Given the description of an element on the screen output the (x, y) to click on. 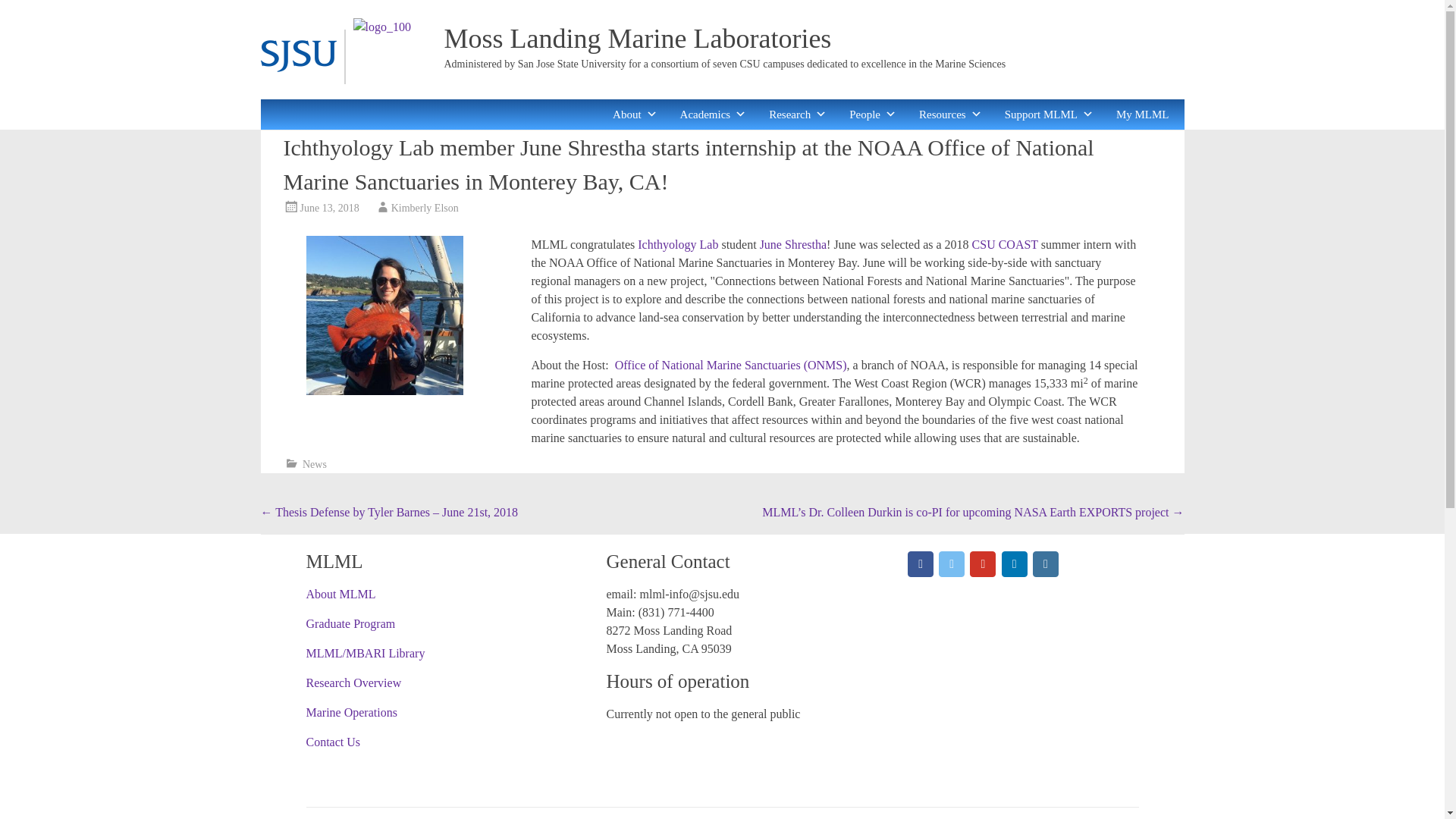
Moss Landing Marine Laboratories on Facebook (920, 564)
Moss Landing Marine Laboratories on Youtube (982, 564)
Moss Landing Marine Laboratories on Linkedin (1014, 564)
June Shrestha and a Vermilion Rockfish (384, 314)
Moss Landing Marine Laboratories on X Twitter (951, 564)
Moss Landing Marine Laboratories (637, 38)
About (635, 114)
Moss Landing Marine Laboratories on Instagram (1045, 564)
Academics (713, 114)
